Given the description of an element on the screen output the (x, y) to click on. 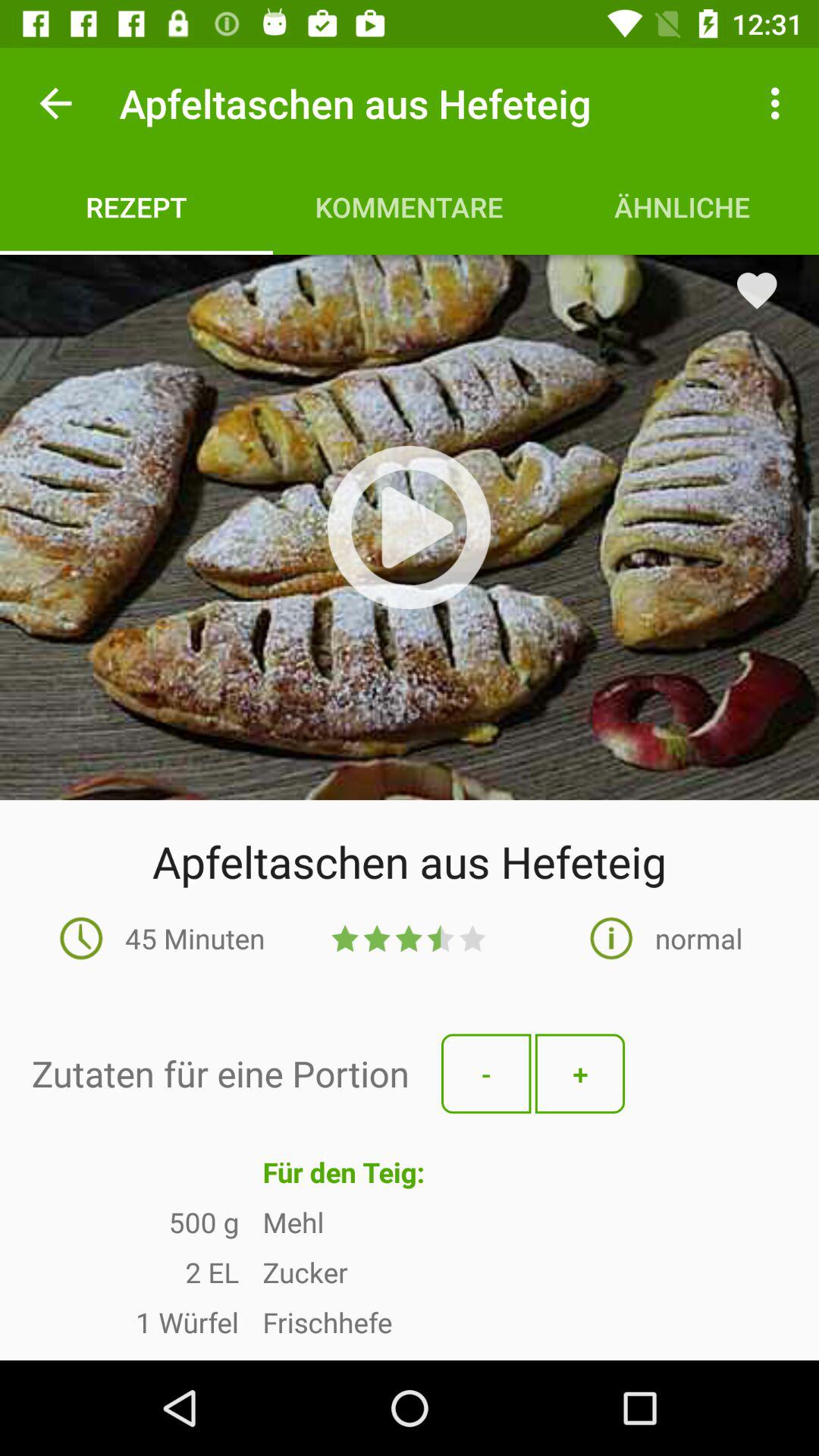
menu button at top right (779, 103)
click on the button with  (579, 1073)
